Given the description of an element on the screen output the (x, y) to click on. 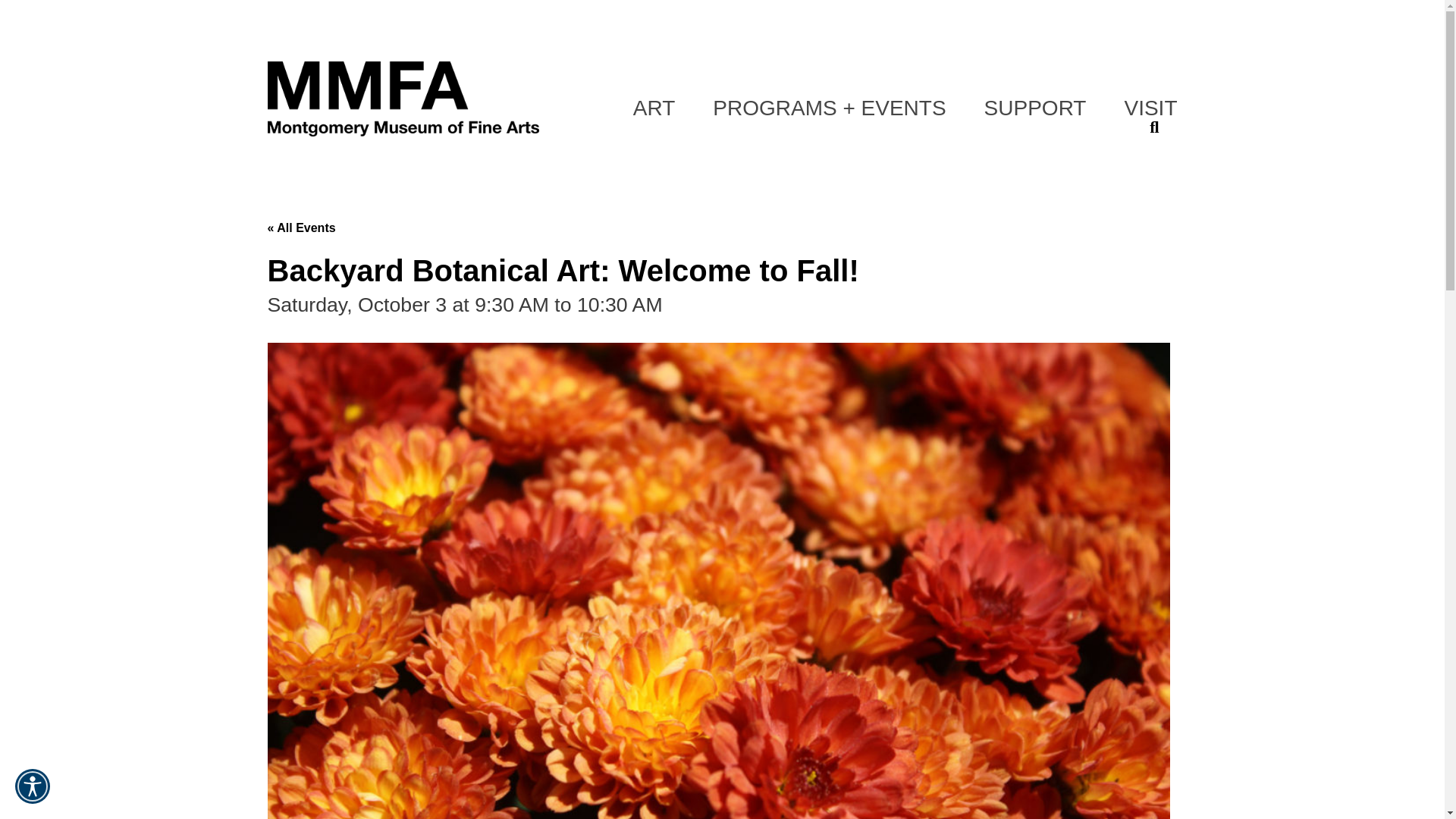
ART (654, 107)
View Accessibility Options (32, 784)
VISIT (1150, 107)
SUPPORT (1035, 107)
